Given the description of an element on the screen output the (x, y) to click on. 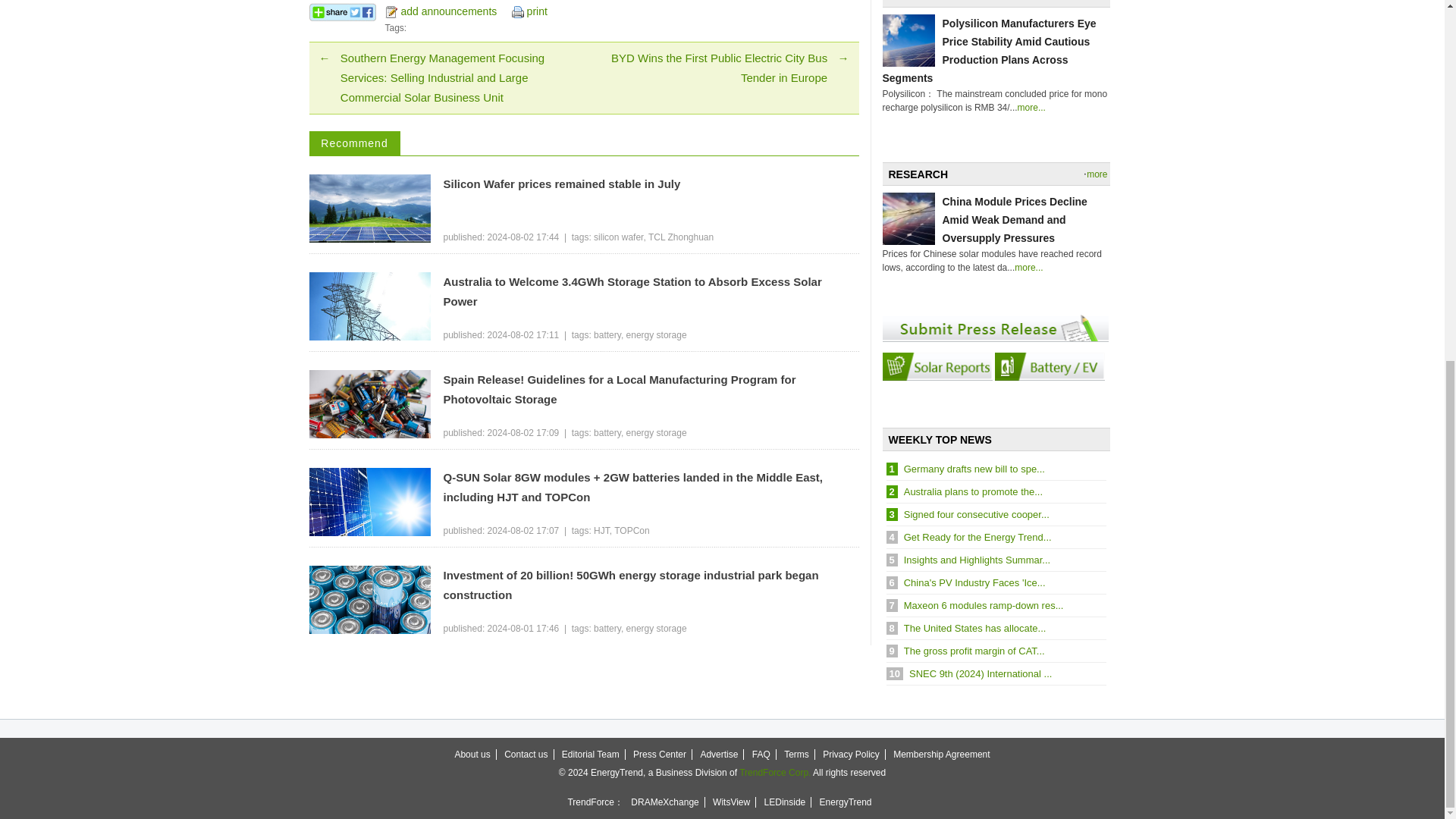
Silicon Wafer prices remained stable in July (650, 184)
